Given the description of an element on the screen output the (x, y) to click on. 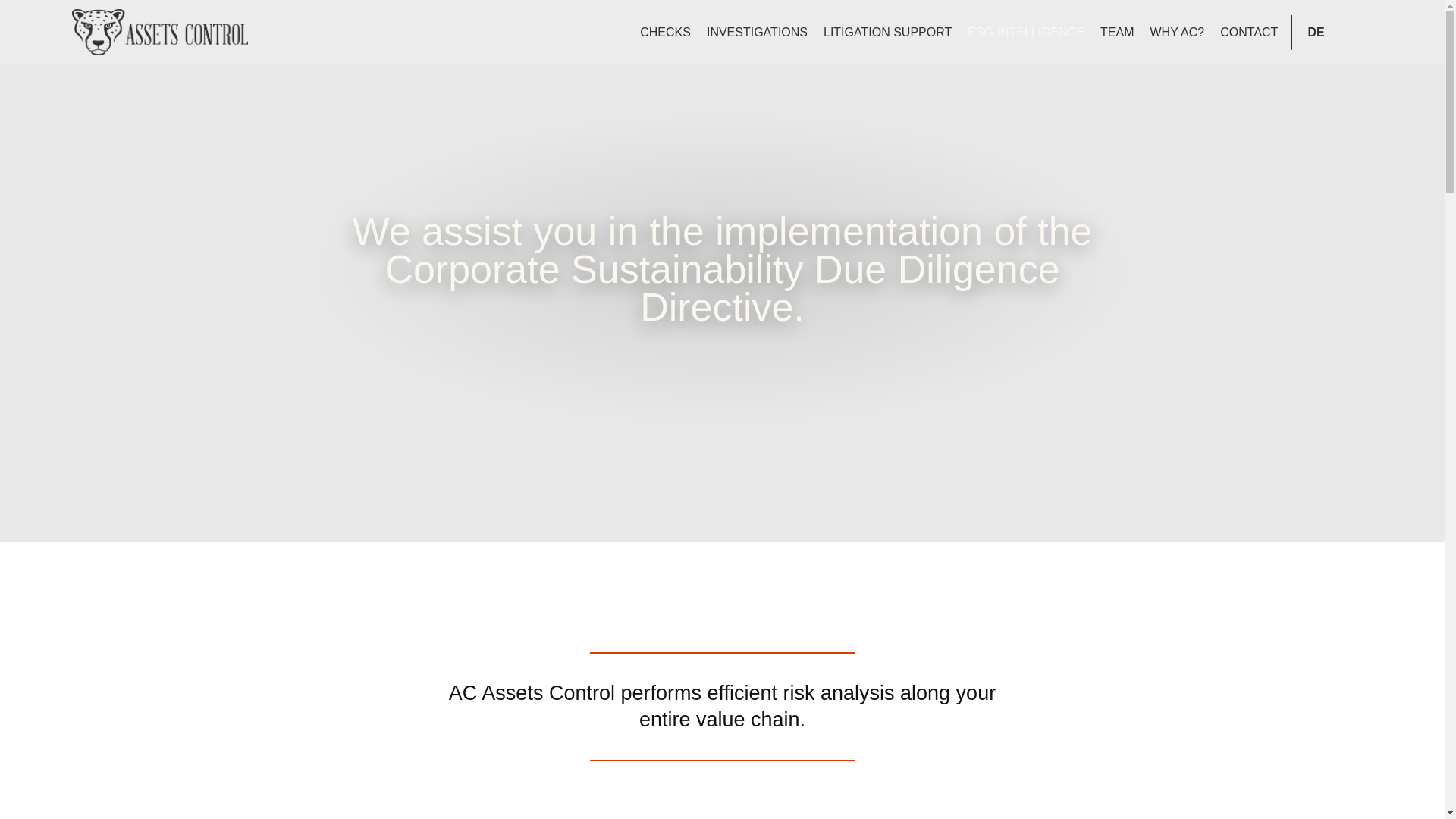
TEAM (1117, 31)
WHY AC? (1175, 31)
ESG INTELLIGENCE (1025, 31)
INVESTIGATIONS (756, 31)
DE (1315, 32)
CONTACT (1249, 31)
LITIGATION SUPPORT (887, 31)
AC Assets Control AG (168, 31)
CHECKS (665, 31)
